Given the description of an element on the screen output the (x, y) to click on. 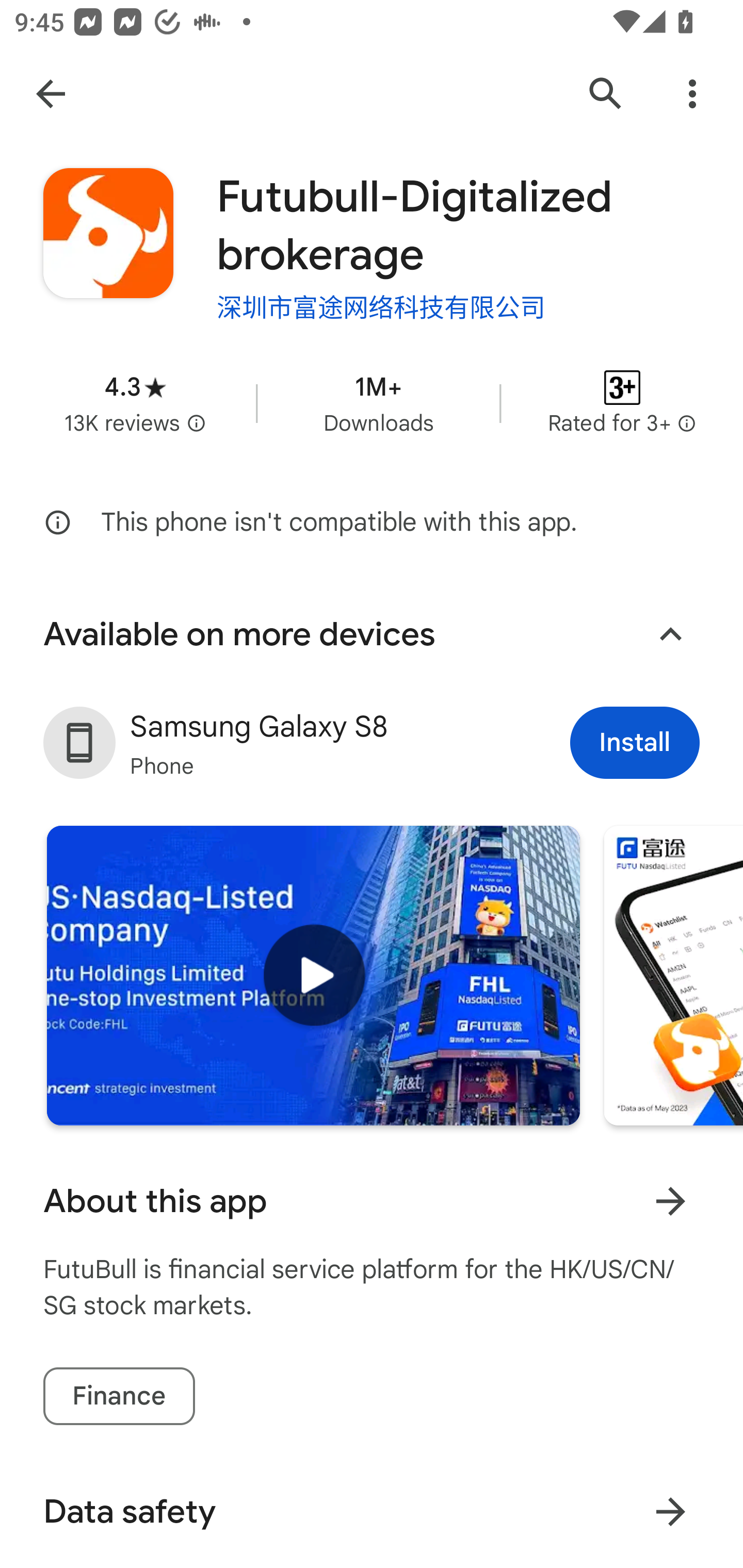
Navigate up (50, 93)
Search Google Play (605, 93)
More Options (692, 93)
深圳市富途网络科技有限公司 (380, 305)
Average rating 4.3 stars in 13 thousand reviews (135, 402)
Content rating Rated for 3+ (622, 402)
Available on more devices Collapse (371, 634)
Collapse (670, 634)
Install (634, 742)
Play trailer for "Futubull-Digitalized brokerage" (313, 975)
Screenshot "1" of "8" (673, 975)
About this app Learn more About this app (371, 1200)
Learn more About this app (670, 1200)
Finance tag (118, 1396)
Data safety Learn more about data safety (371, 1511)
Learn more about data safety (670, 1512)
